Given the description of an element on the screen output the (x, y) to click on. 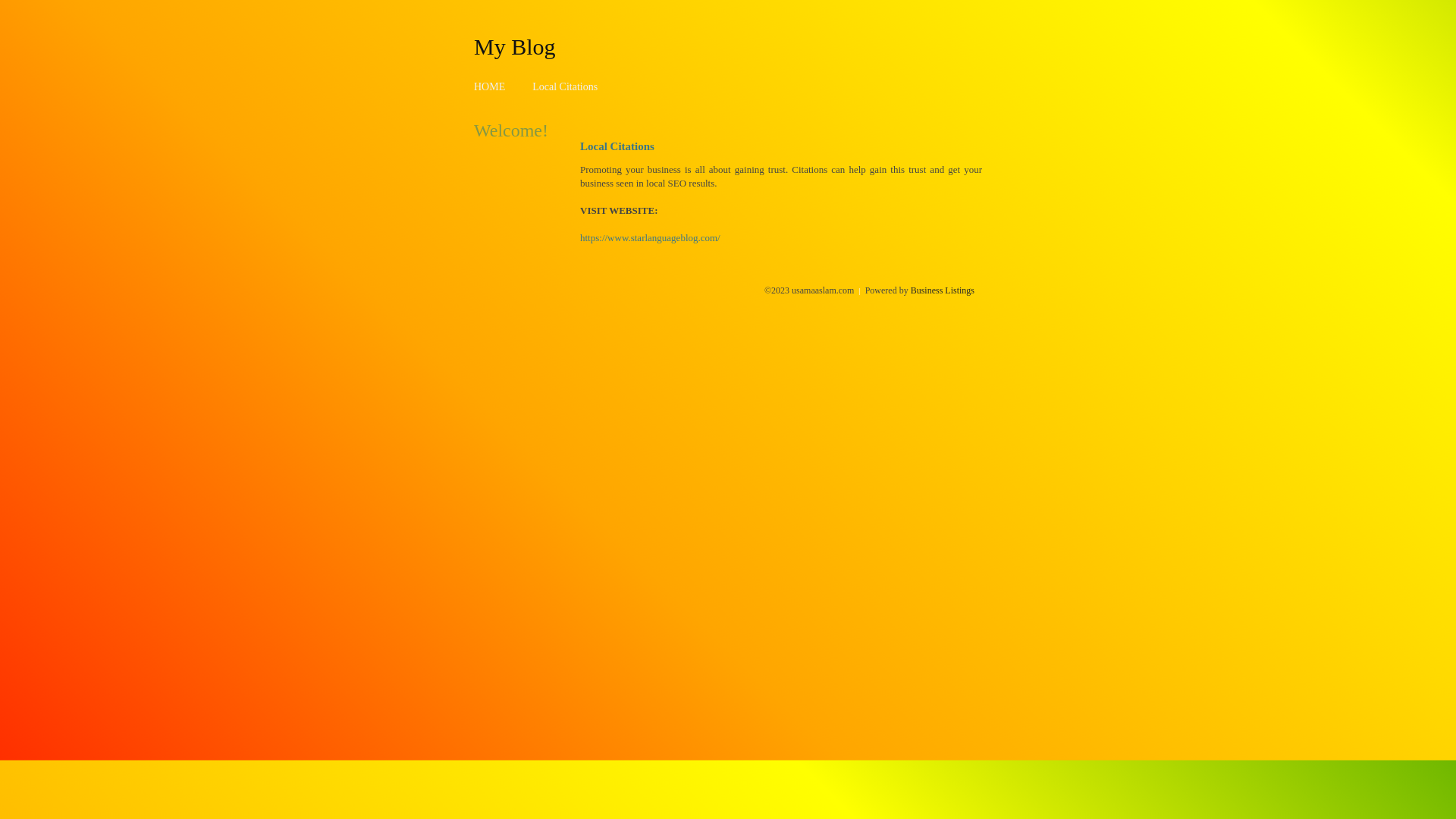
My Blog Element type: text (514, 46)
https://www.starlanguageblog.com/ Element type: text (650, 237)
Local Citations Element type: text (564, 86)
HOME Element type: text (489, 86)
Business Listings Element type: text (942, 290)
